Given the description of an element on the screen output the (x, y) to click on. 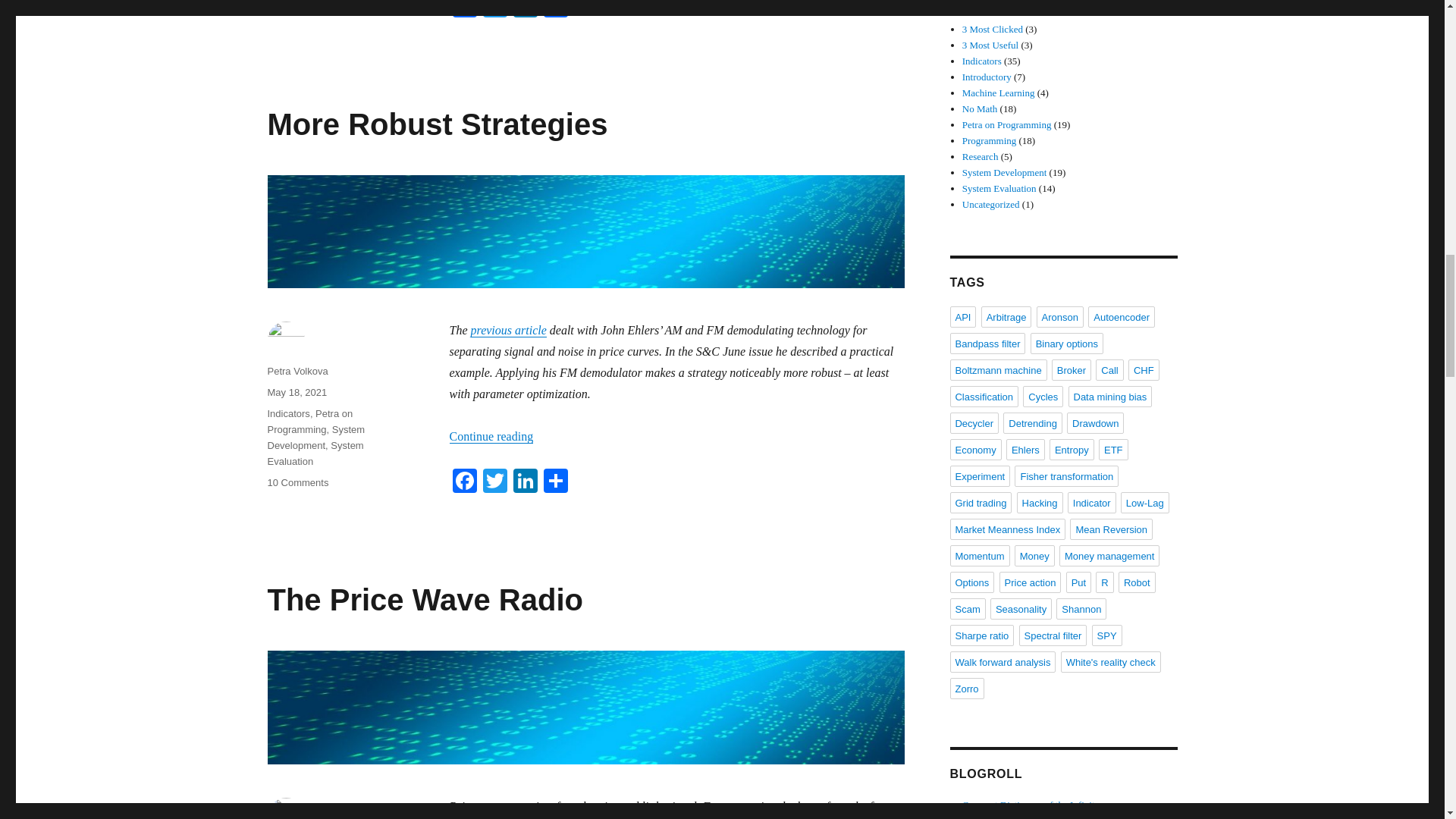
LinkedIn (524, 482)
Facebook (463, 10)
Facebook (463, 482)
LinkedIn (524, 10)
Twitter (494, 10)
Twitter (494, 482)
LinkedIn (524, 10)
Facebook (463, 10)
Twitter (494, 10)
